Given the description of an element on the screen output the (x, y) to click on. 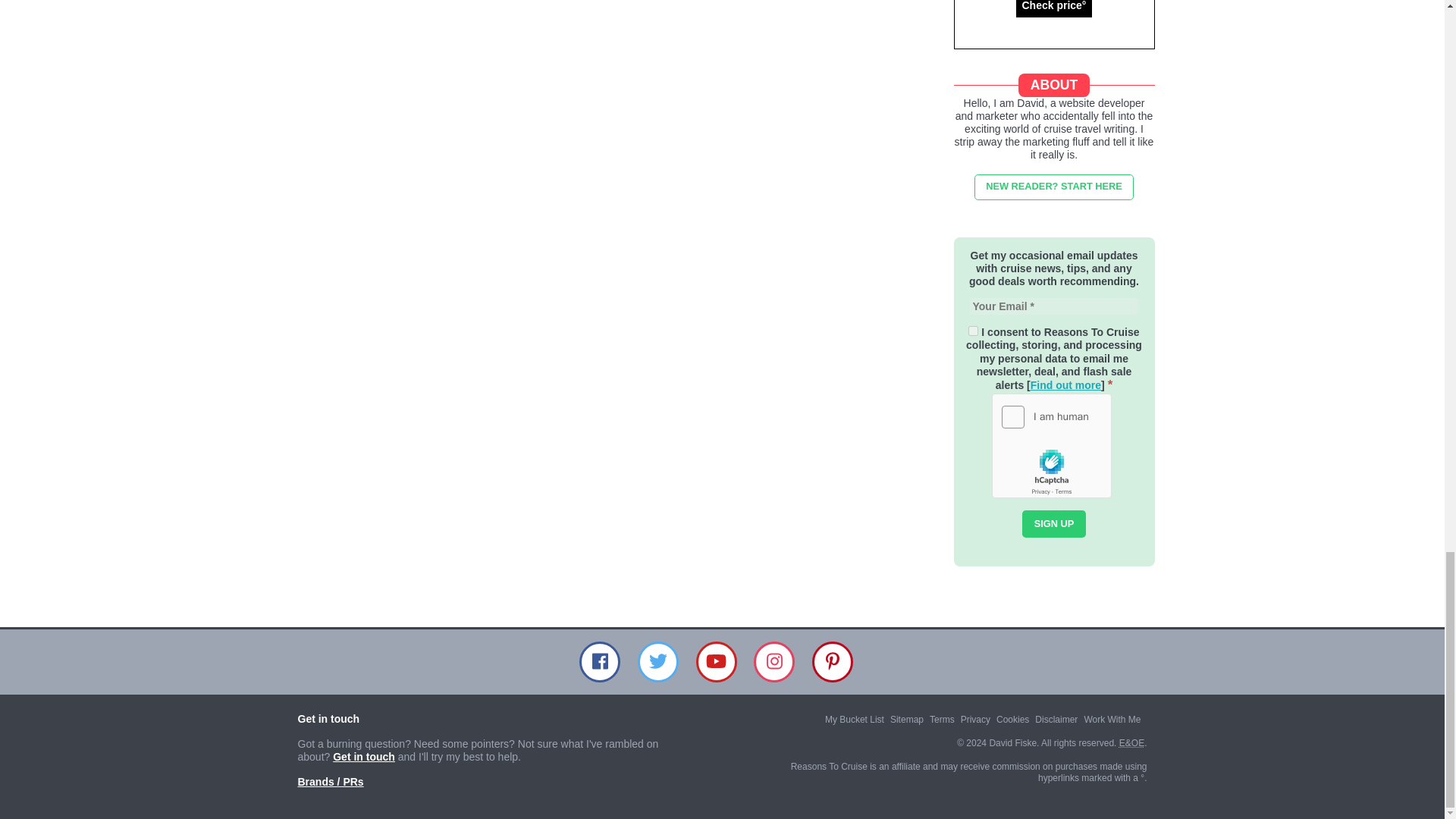
Get in touch (363, 756)
Sign Up (1054, 523)
NEW READER? START HERE (1054, 186)
Terms (942, 719)
Disclaimer (1056, 719)
My Bucket List (854, 719)
Work With Me (1111, 719)
Sitemap (906, 719)
1 (973, 330)
Sign Up (1054, 523)
